Given the description of an element on the screen output the (x, y) to click on. 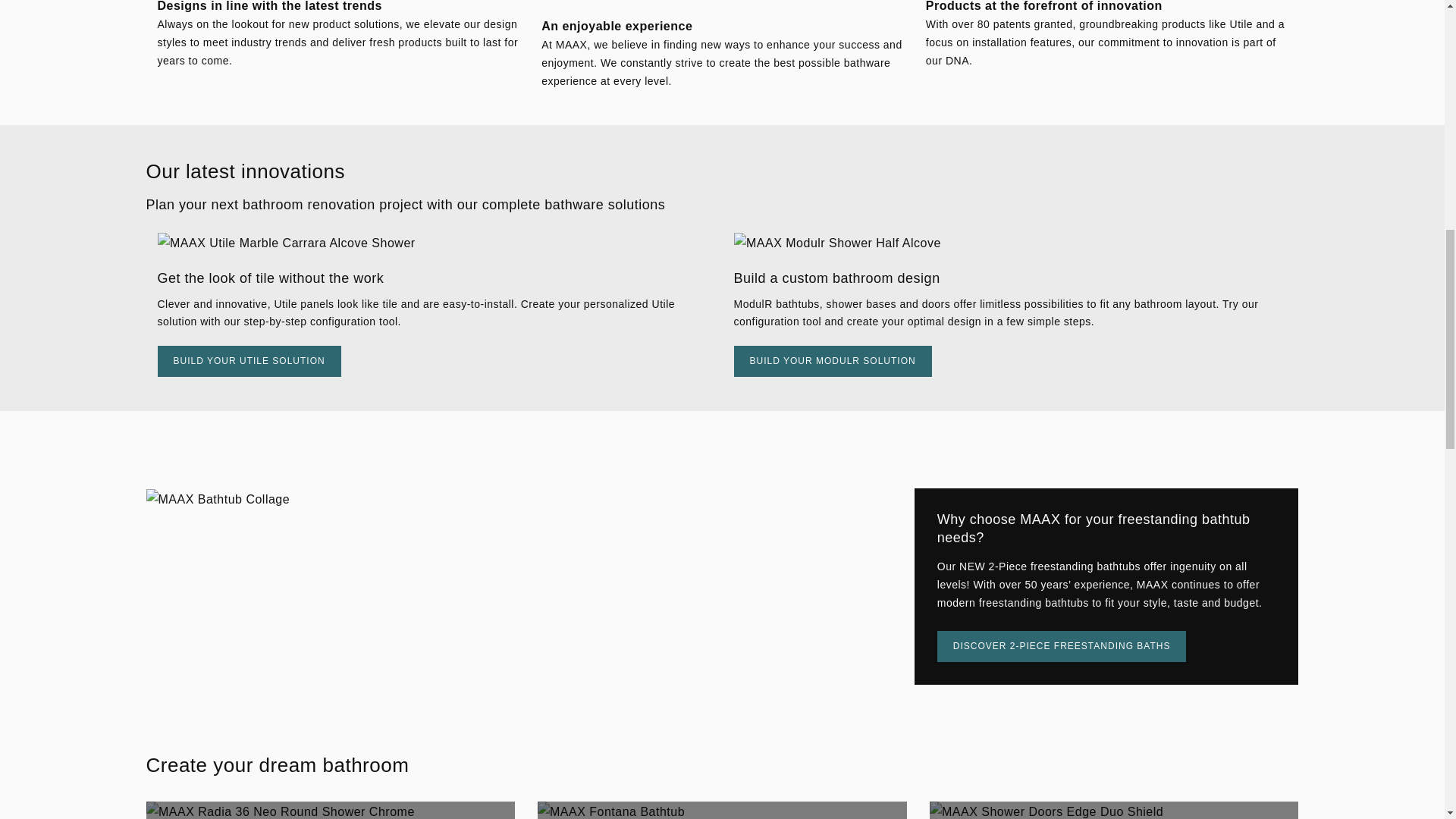
MAAX Fontana Bathtub (722, 810)
MAAX Shower Doors Edge Duo Shield (1114, 810)
MAAX Radia 36 Neo Round Shower Chrome (330, 810)
MAAX Bathtub Collage (217, 498)
MAAX Utile Marble Carrara Alcove Shower (433, 242)
MAAX Modulr Shower Half Alcove (1010, 242)
